Given the description of an element on the screen output the (x, y) to click on. 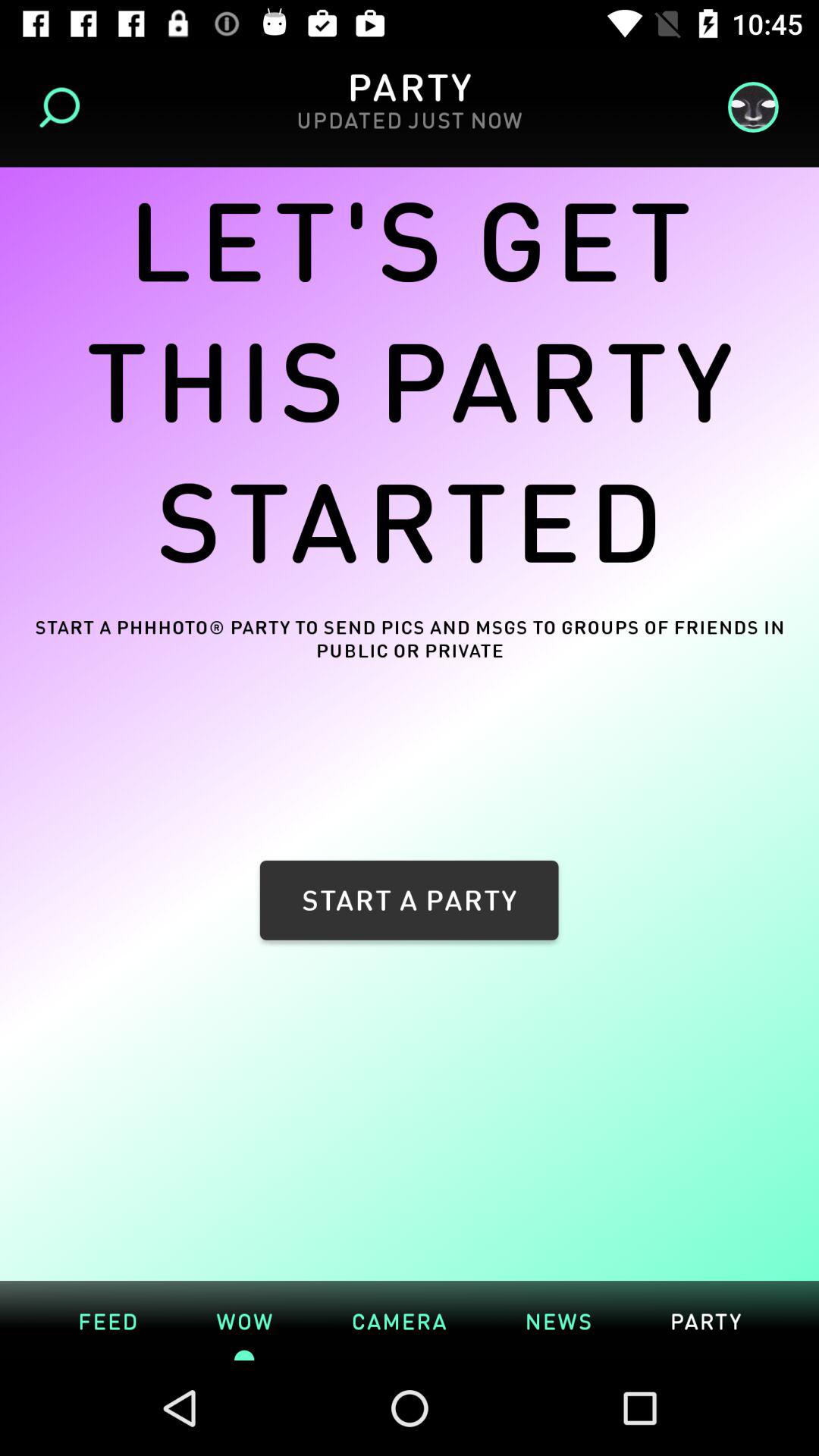
tap the feed (107, 1320)
